Given the description of an element on the screen output the (x, y) to click on. 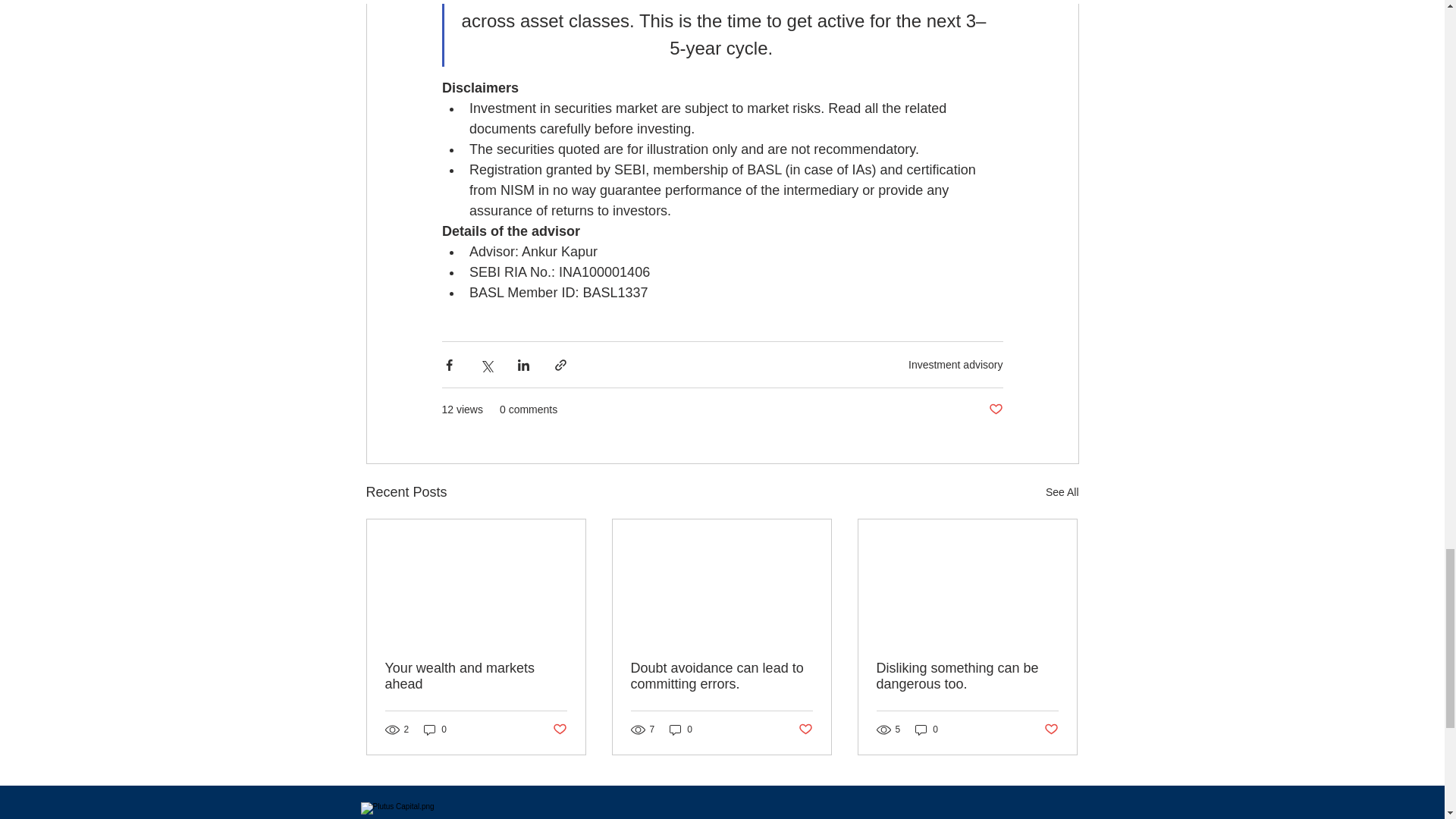
Post not marked as liked (558, 729)
Doubt avoidance can lead to committing errors. (721, 676)
Investment advisory (955, 364)
Your wealth and markets ahead (476, 676)
Disliking something can be dangerous too. (967, 676)
0 (926, 729)
See All (1061, 492)
0 (681, 729)
Post not marked as liked (995, 409)
Post not marked as liked (804, 729)
0 (435, 729)
Post not marked as liked (1050, 729)
